Given the description of an element on the screen output the (x, y) to click on. 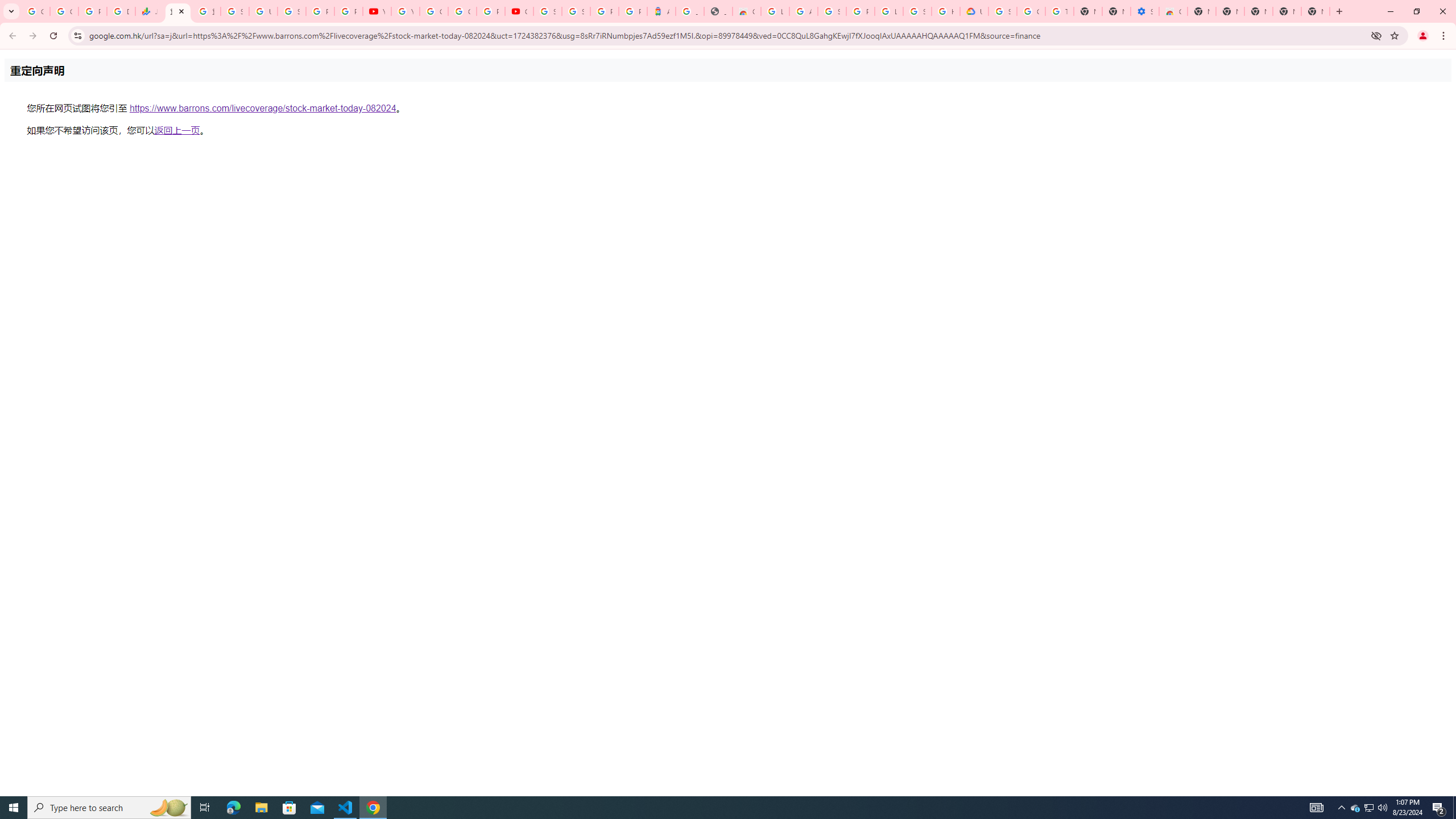
Turn cookies on or off - Computer - Google Account Help (1058, 11)
YouTube (377, 11)
Sign in - Google Accounts (547, 11)
New Tab (1201, 11)
Sign in - Google Accounts (917, 11)
Atour Hotel - Google hotels (661, 11)
